Given the description of an element on the screen output the (x, y) to click on. 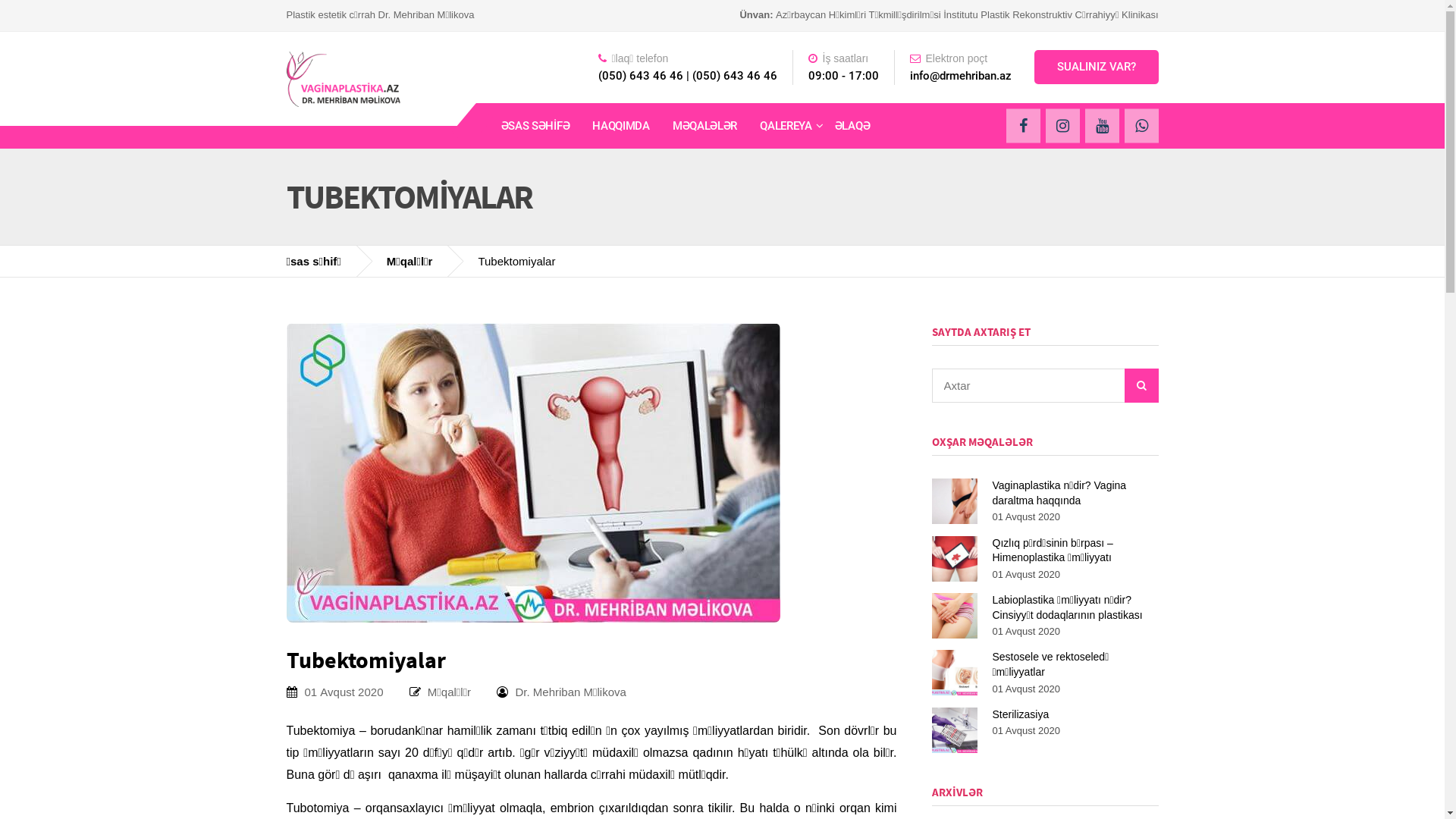
(050) 643 46 46 Element type: text (733, 75)
QALEREYA Element type: text (785, 125)
Sterilizasiya
01 Avqust 2020 Element type: text (1044, 730)
SUALINIZ VAR? Element type: text (1096, 67)
(050) 643 46 46 Element type: text (639, 75)
HAQQIMDA Element type: text (620, 125)
info@drmehriban.az Element type: text (960, 75)
